Given the description of an element on the screen output the (x, y) to click on. 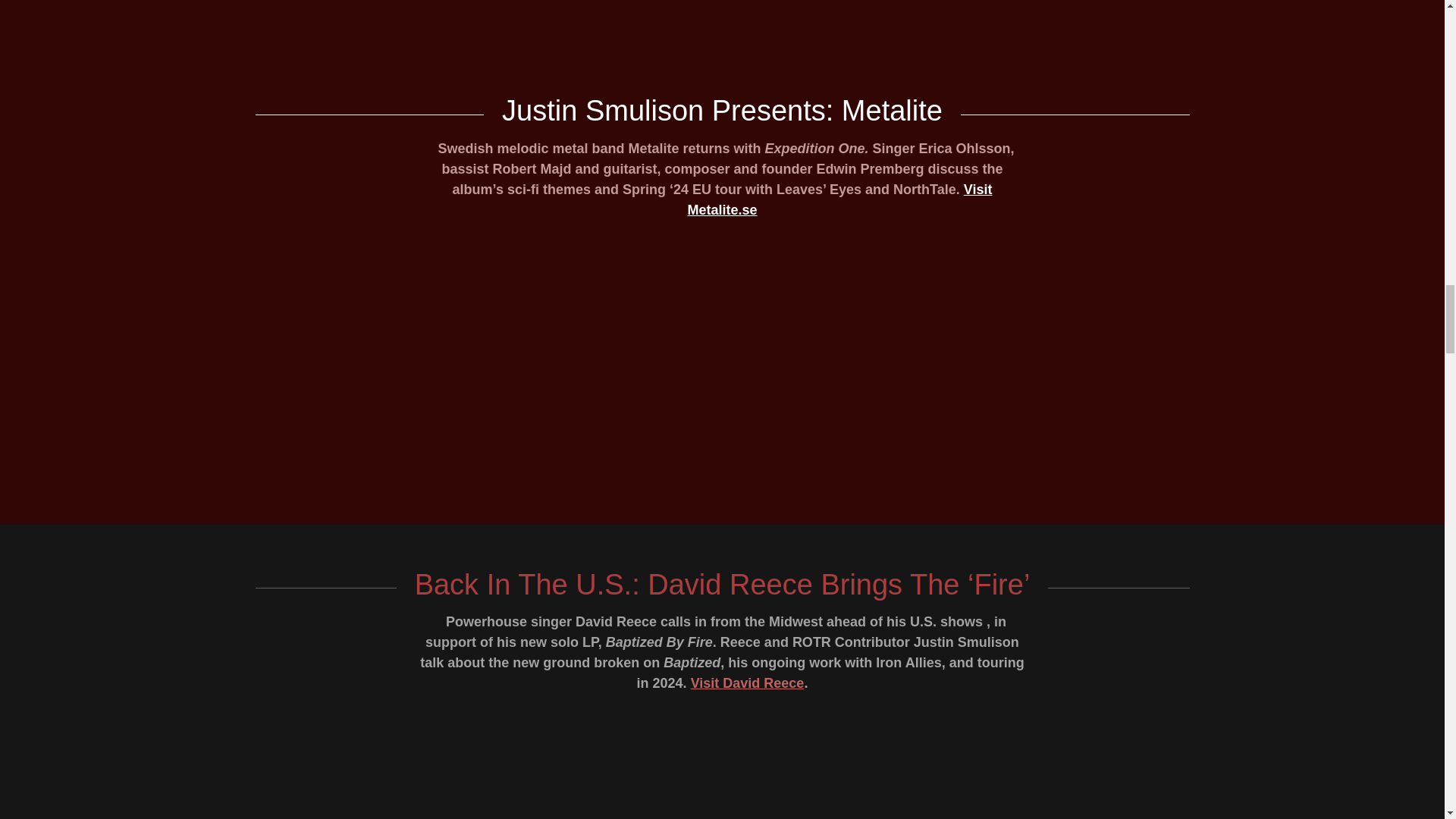
Clickable audio widget (721, 363)
Visit David Reece (747, 683)
Clickable audio widget (721, 771)
Visit Metalite.se (839, 199)
Clickable audio widget (721, 2)
